Given the description of an element on the screen output the (x, y) to click on. 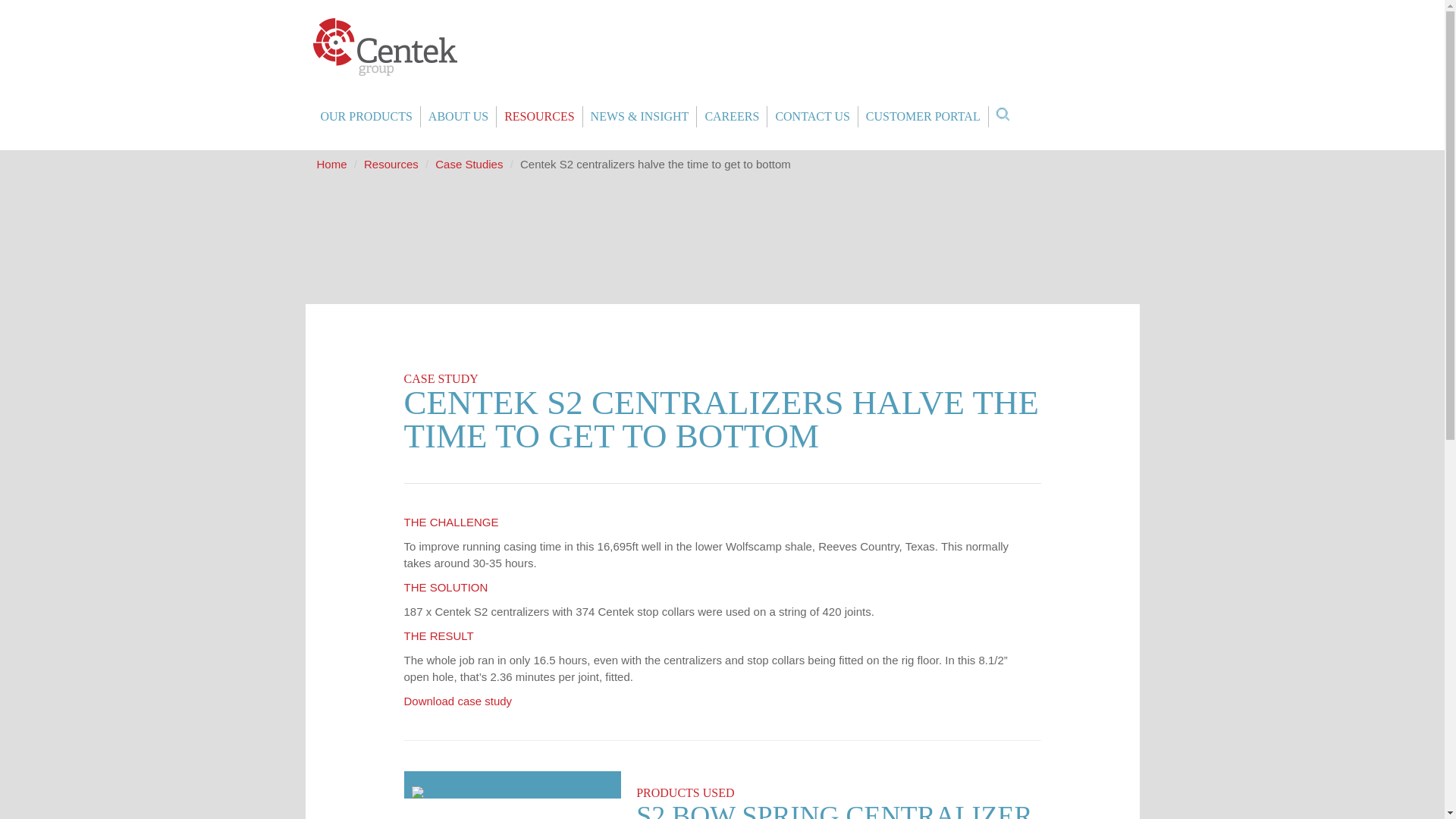
Case Study S2 USA Reeves County Texas (457, 700)
ABOUT US (458, 116)
OUR PRODUCTS (366, 116)
Centek Group (385, 47)
RESOURCES (538, 116)
